Given the description of an element on the screen output the (x, y) to click on. 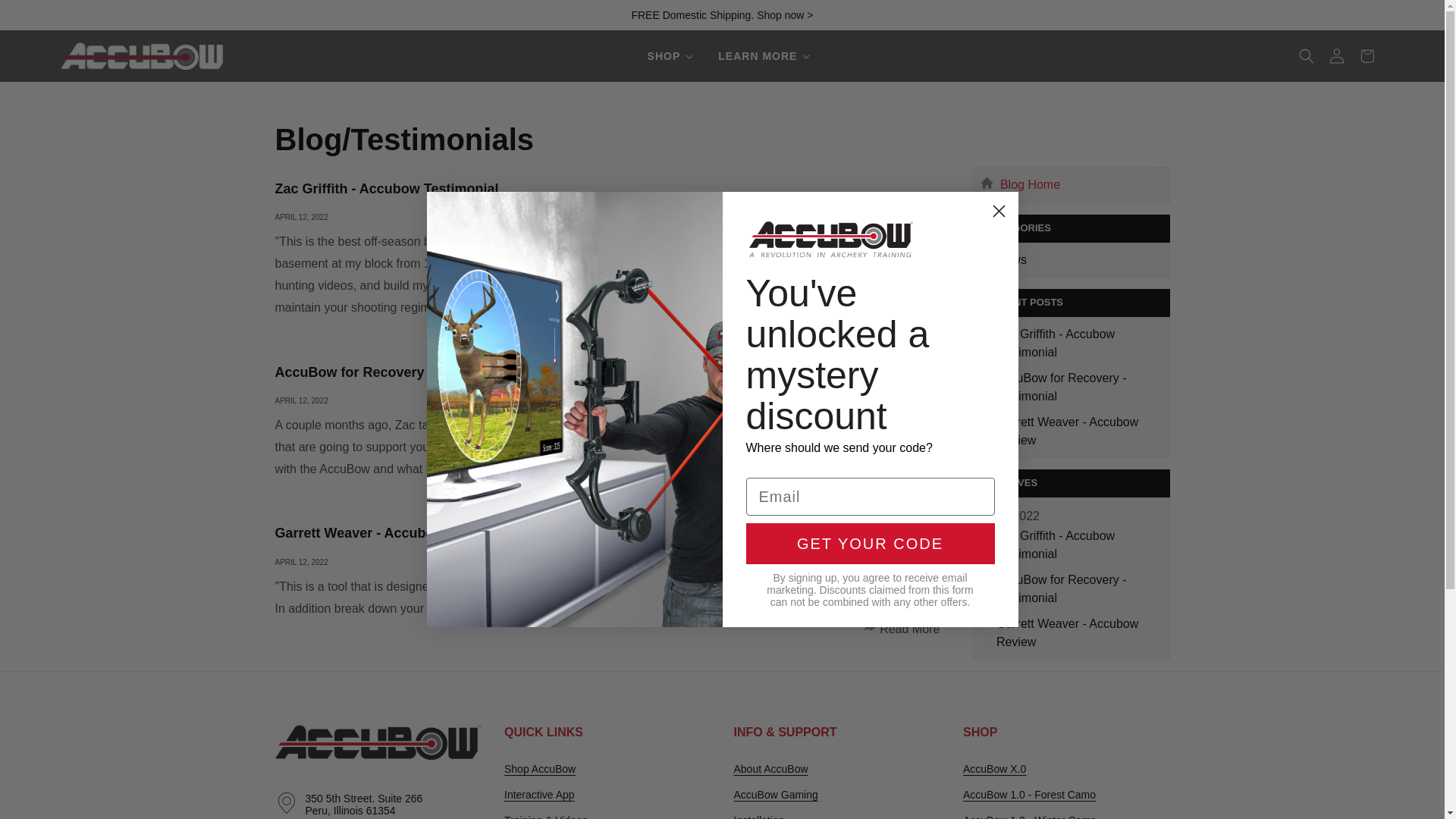
Close dialog 1 (998, 211)
Skip to content (64, 4)
